Given the description of an element on the screen output the (x, y) to click on. 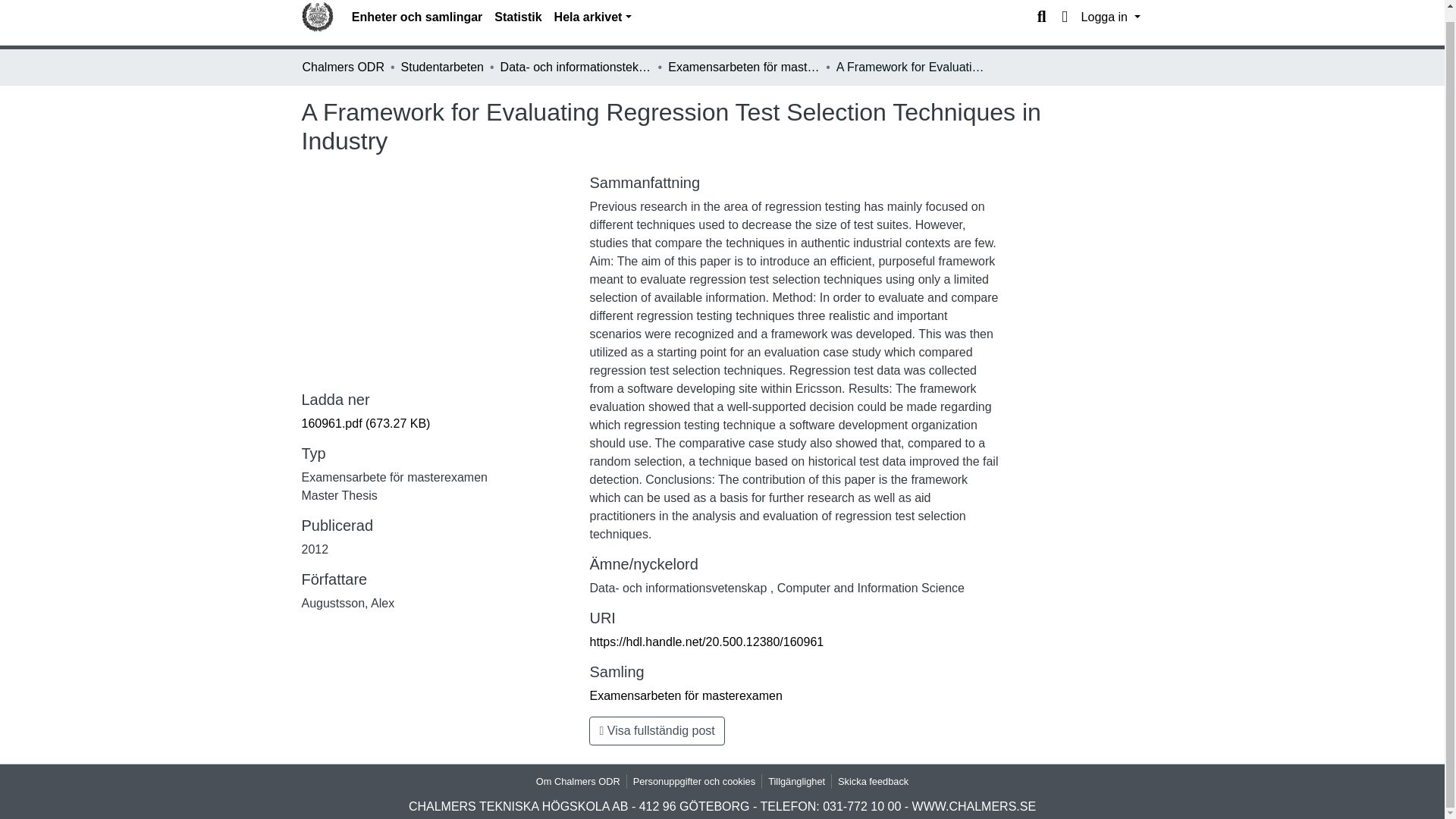
Enheter och samlingar (417, 17)
WWW.CHALMERS.SE (974, 806)
Statistik (517, 17)
Studentarbeten (442, 67)
Logga in (1110, 16)
Statistik (517, 17)
Hela arkivet (592, 17)
Skicka feedback (872, 780)
Personuppgifter och cookies (694, 780)
Chalmers ODR (342, 67)
